Given the description of an element on the screen output the (x, y) to click on. 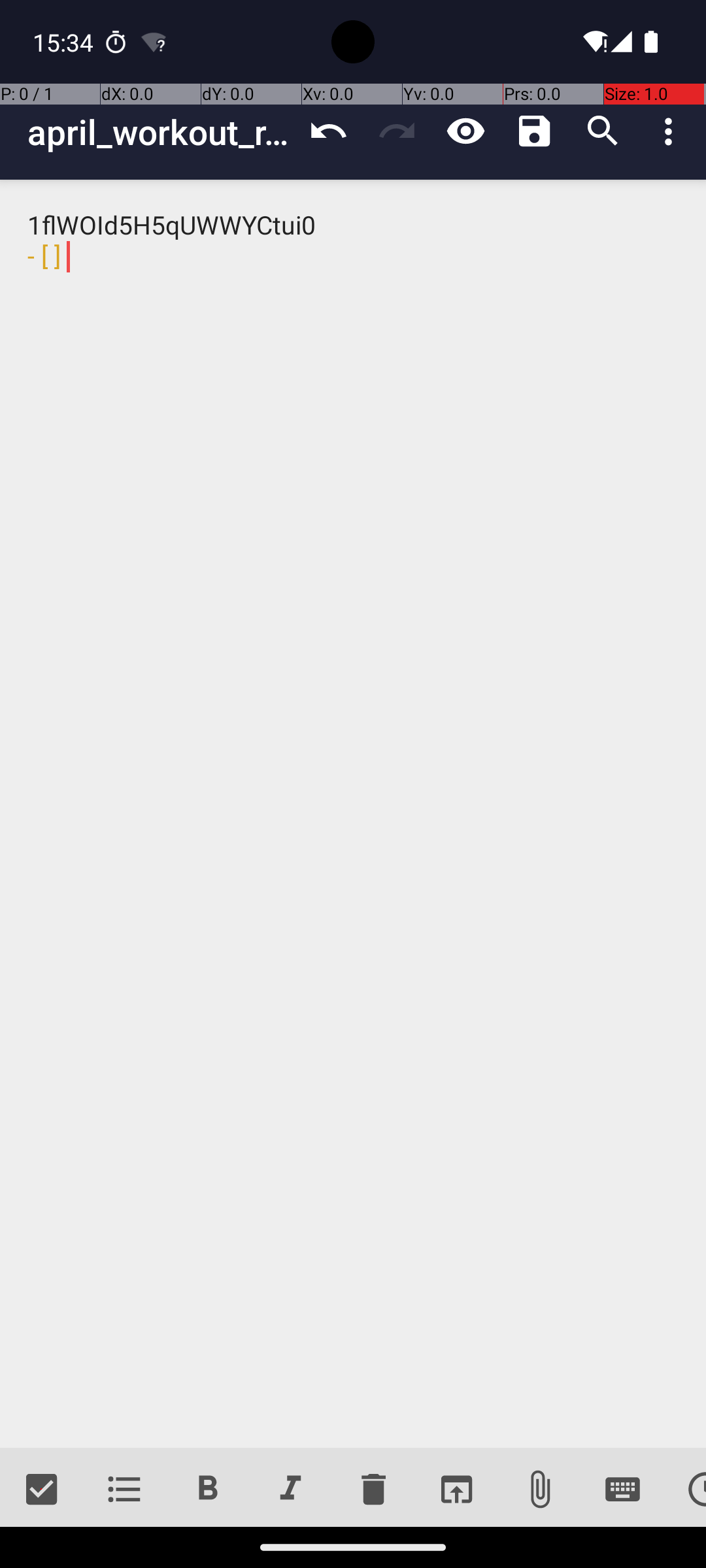
april_workout_routine_copy Element type: android.widget.TextView (160, 131)
1flWOId5H5qUWWYCtui0
- [ ]  Element type: android.widget.EditText (353, 813)
